Given the description of an element on the screen output the (x, y) to click on. 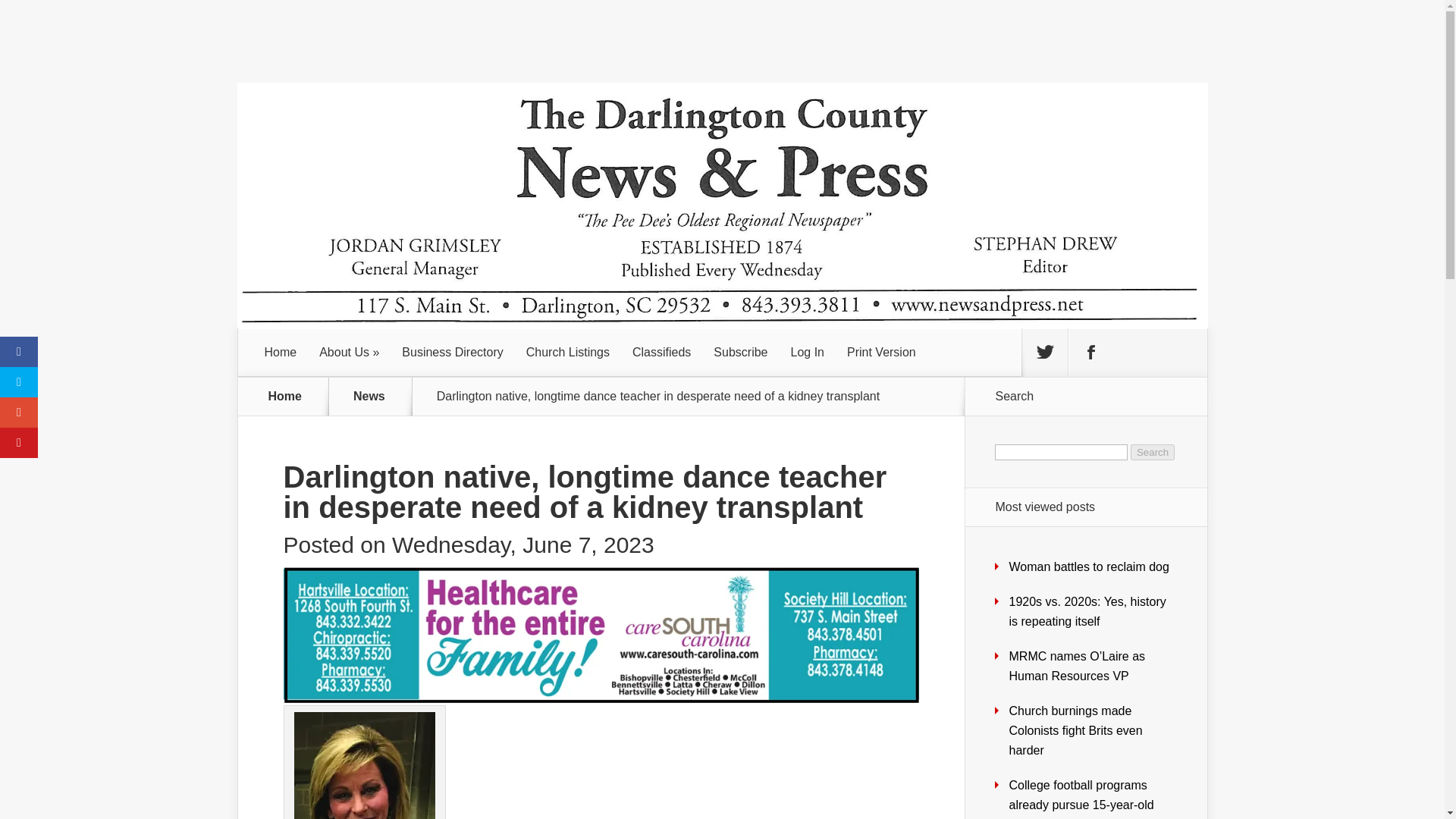
Follow us on Facebook (1090, 352)
Log In (806, 352)
Search (1152, 452)
Follow us on Twitter (1044, 352)
Church burnings made Colonists fight Brits even harder (1075, 730)
Subscribe (739, 352)
Classifieds (661, 352)
Print Version (881, 352)
News (378, 396)
Home (280, 352)
1920s vs. 2020s: Yes, history is repeating itself (1087, 611)
Business Directory (451, 352)
Woman battles to reclaim dog (1089, 566)
About Us (348, 352)
